Given the description of an element on the screen output the (x, y) to click on. 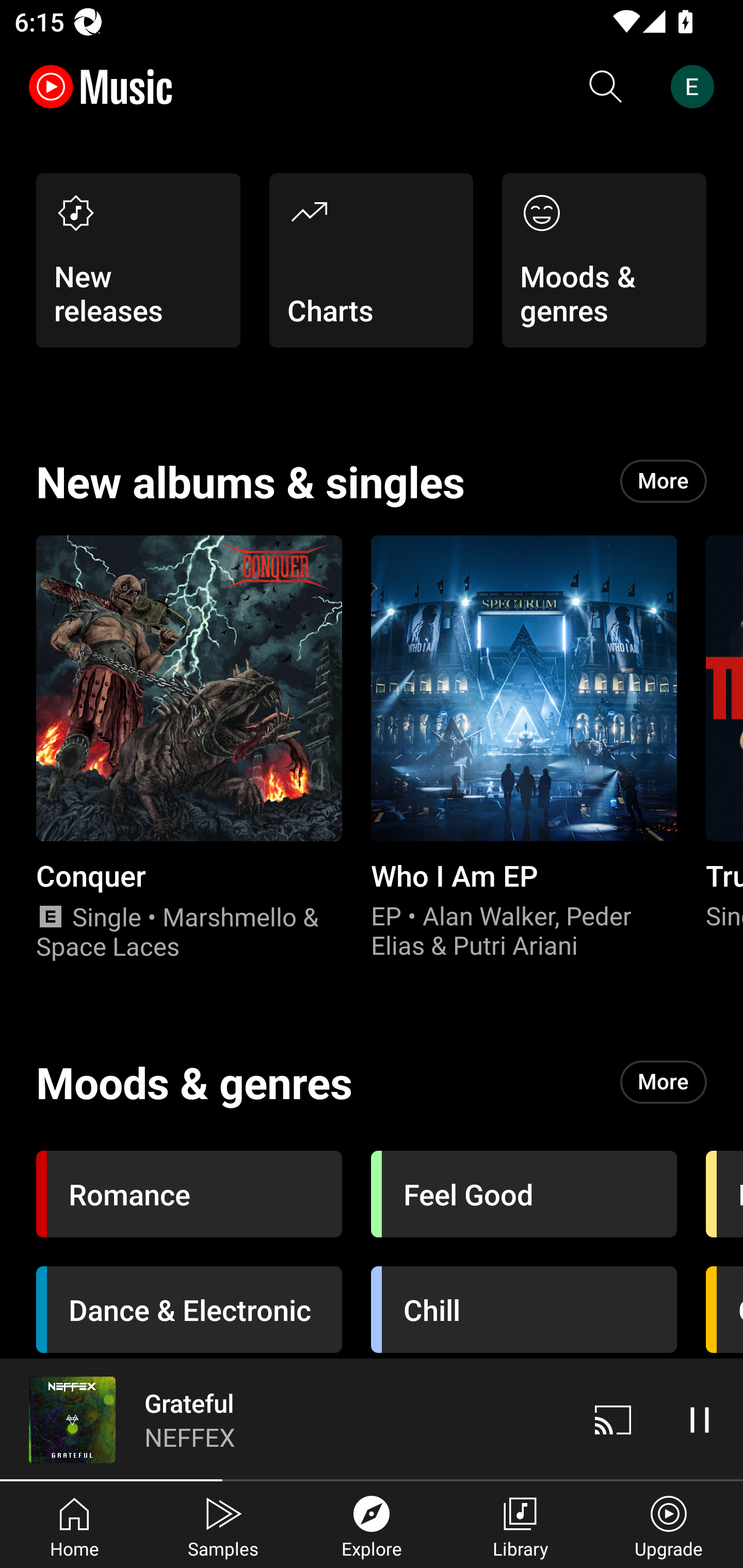
Search (605, 86)
Account (696, 86)
Cast. Disconnected (612, 1419)
Pause video (699, 1419)
Home (74, 1524)
Samples (222, 1524)
Library (519, 1524)
Upgrade (668, 1524)
